Given the description of an element on the screen output the (x, y) to click on. 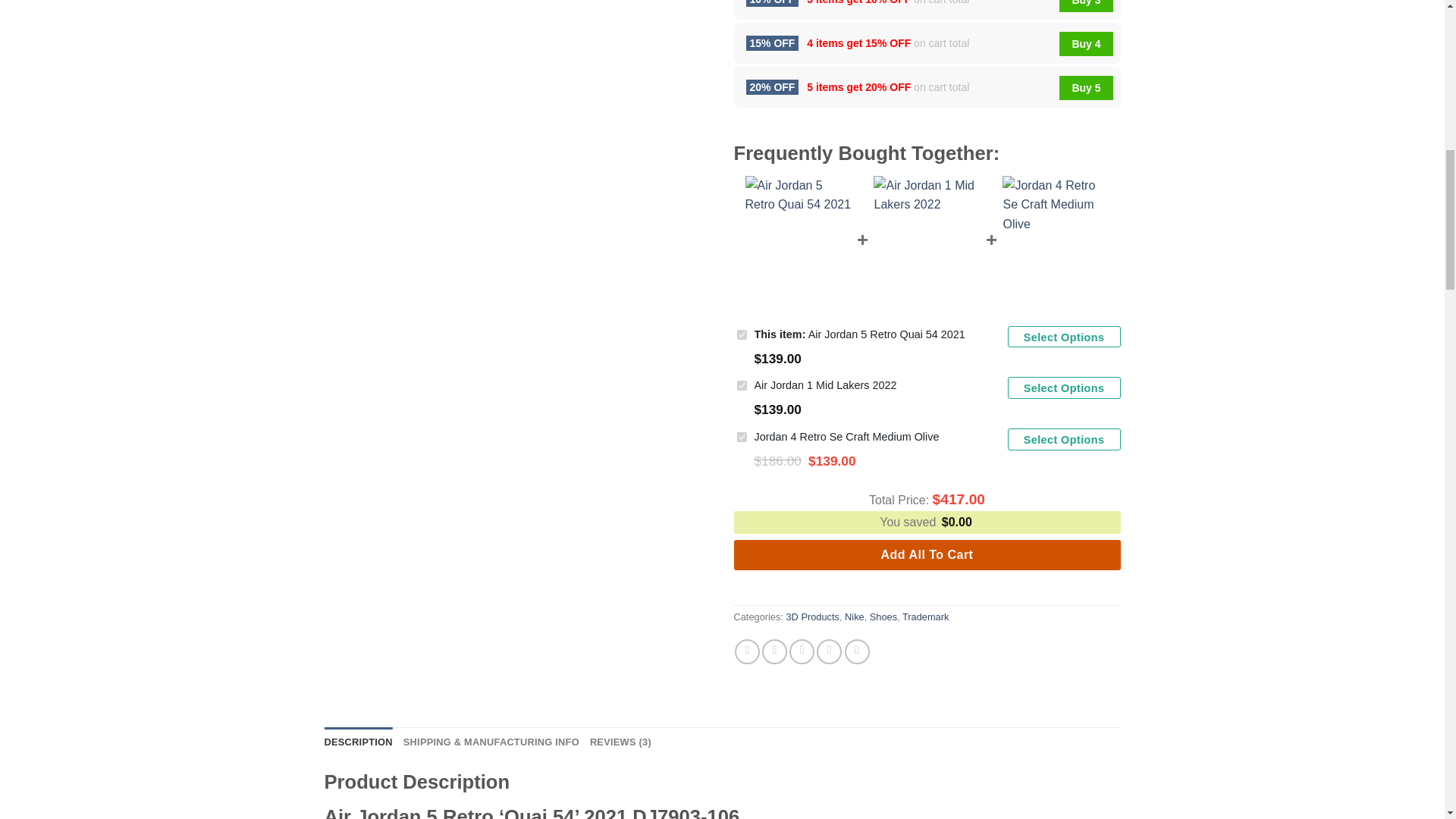
7133 (741, 385)
6949 (741, 437)
22784 (741, 334)
